Given the description of an element on the screen output the (x, y) to click on. 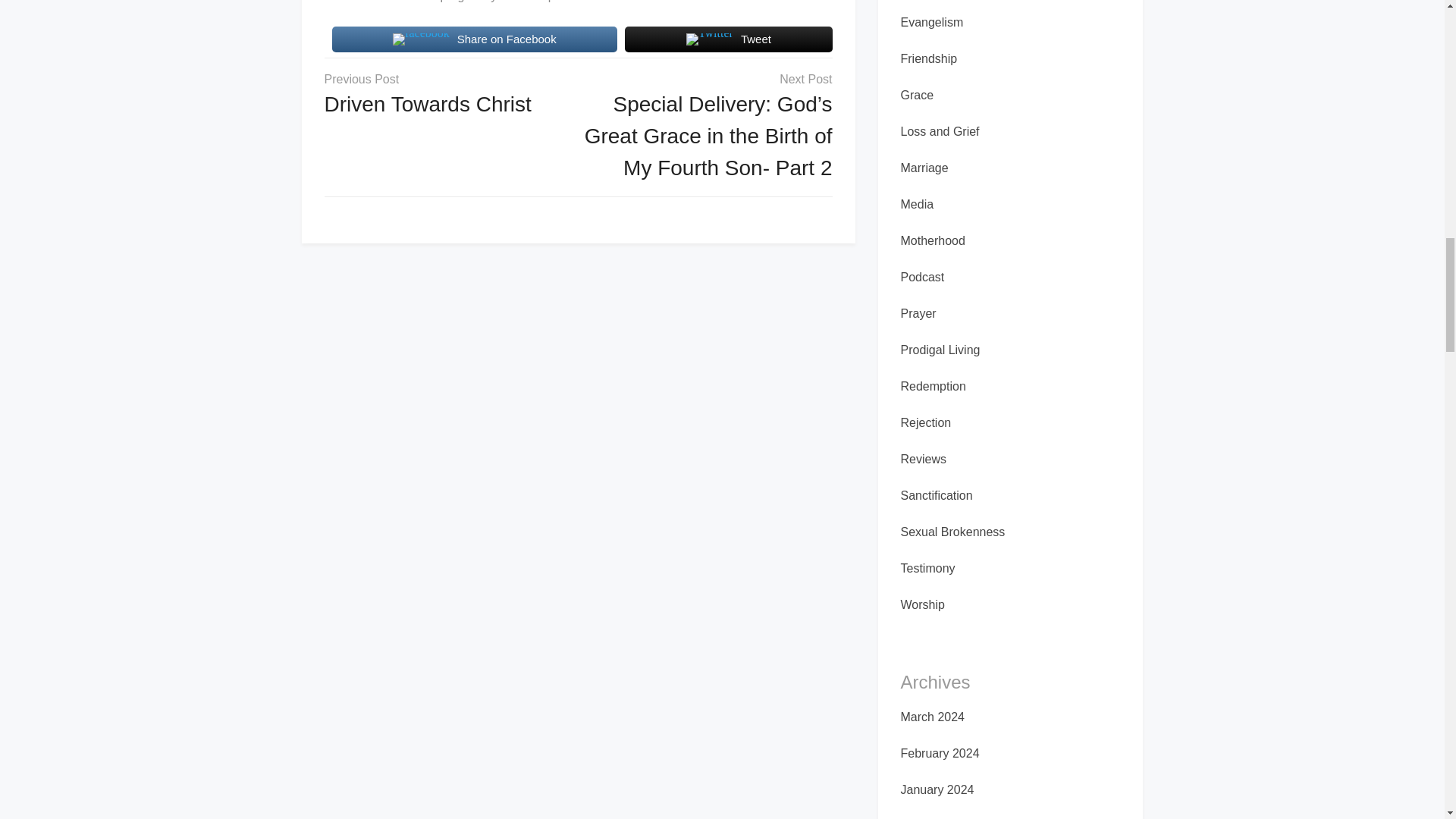
Tweet (727, 39)
Share on Facebook (474, 39)
Driven Towards Christ (427, 104)
Evangelism (932, 21)
